Given the description of an element on the screen output the (x, y) to click on. 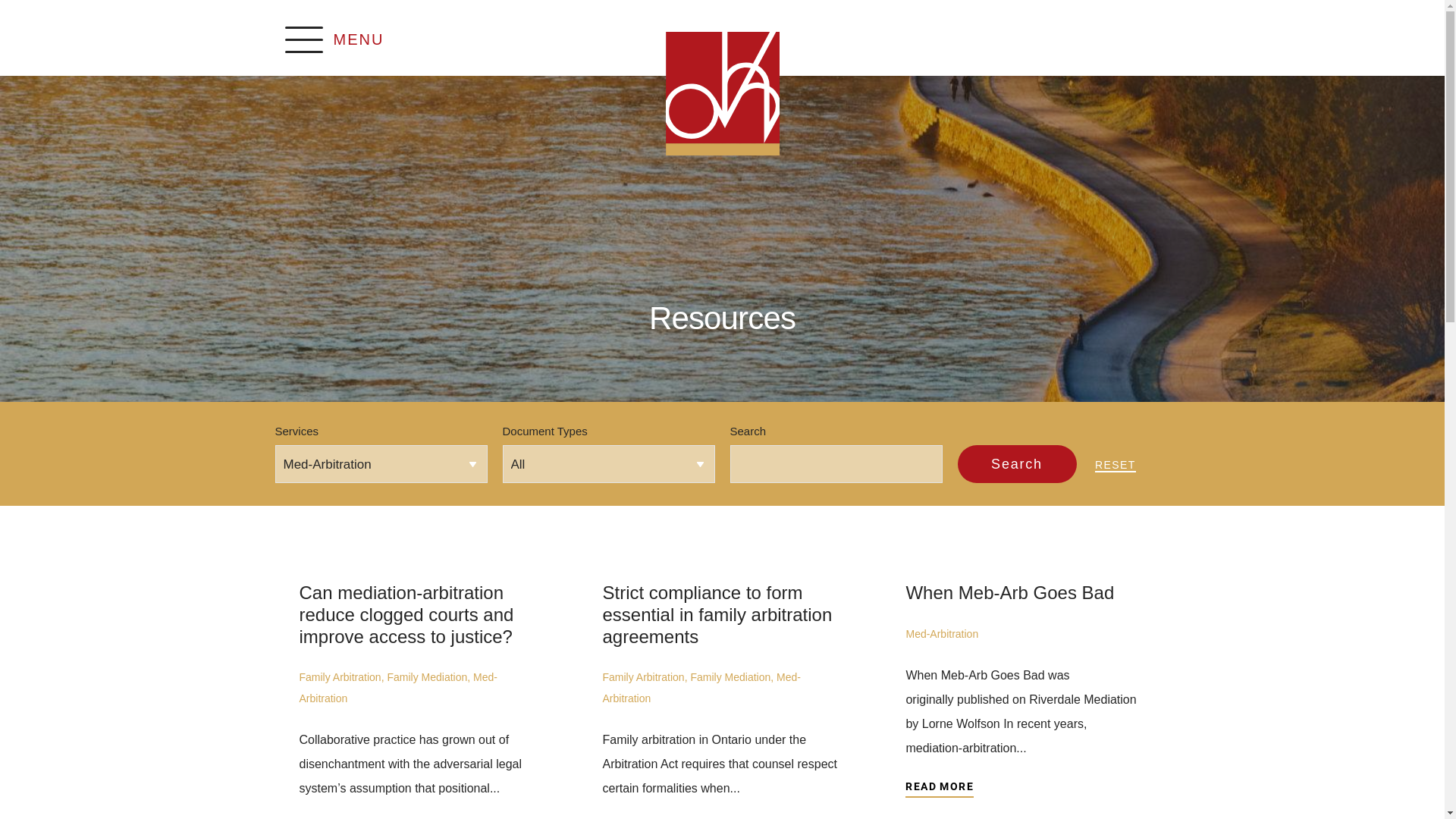
When Meb-Arb Goes Bad Element type: text (1009, 593)
Family Mediation Element type: text (426, 677)
Family Arbitration Element type: text (643, 677)
Search Element type: text (1016, 464)
MENU Element type: text (721, 40)
Family Arbitration Element type: text (339, 677)
Arlene H. Henry Element type: hover (722, 93)
Med-Arbitration Element type: text (701, 687)
Family Mediation Element type: text (730, 677)
READ MORE Element type: text (939, 788)
Med-Arbitration Element type: text (397, 687)
Med-Arbitration Element type: text (941, 633)
RESET Element type: text (1115, 464)
